Given the description of an element on the screen output the (x, y) to click on. 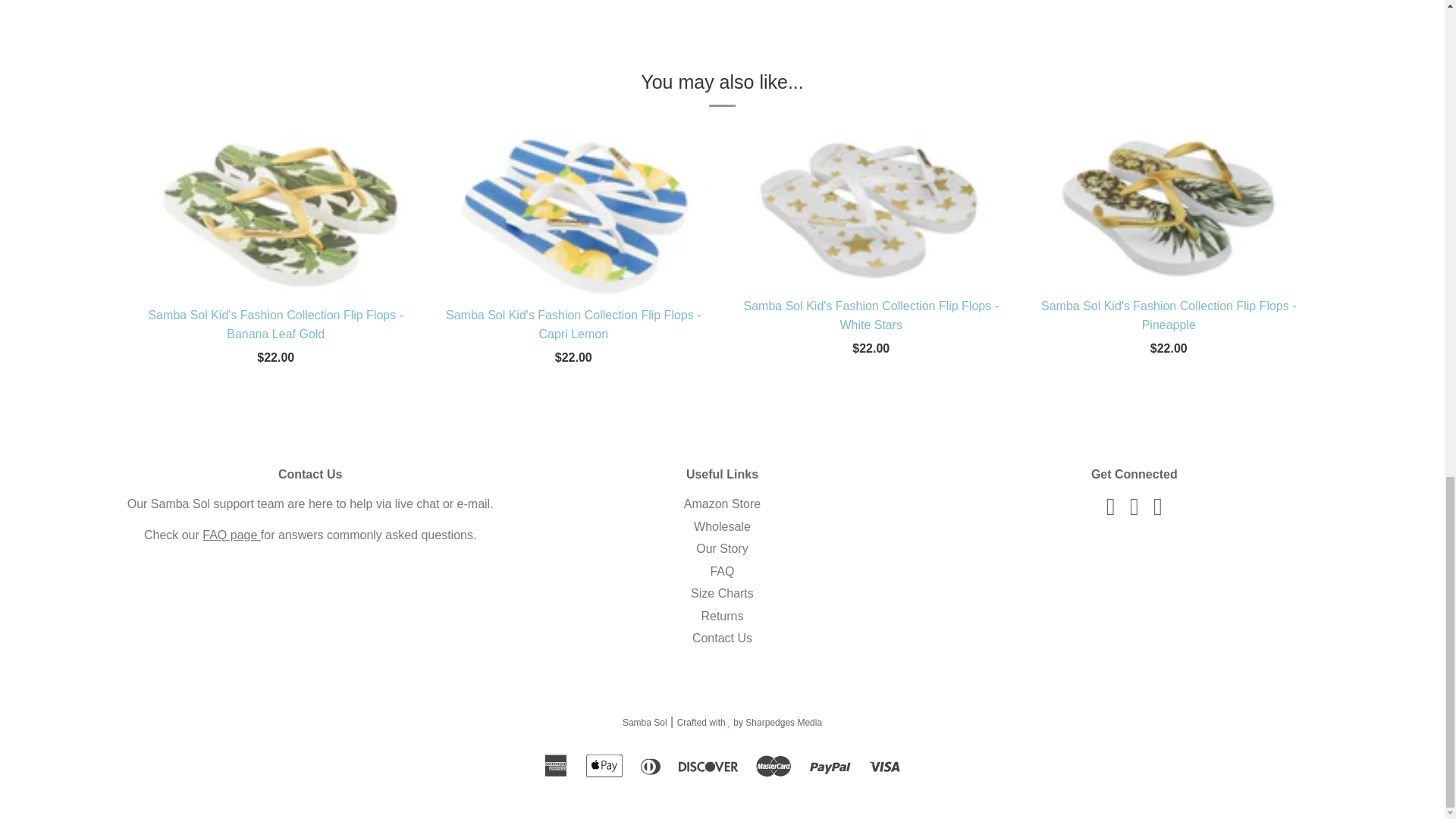
Crafted with love by Sharpedges Media (749, 722)
Samba Sol Kid's Fashion Collection Flip Flops - Capri Lemon (573, 210)
Samba Sol Kid's Fashion Collection Flip Flops - Pineapple (1168, 206)
Samba Sol Kid's Fashion Collection Flip Flops - White Stars (871, 206)
